Given the description of an element on the screen output the (x, y) to click on. 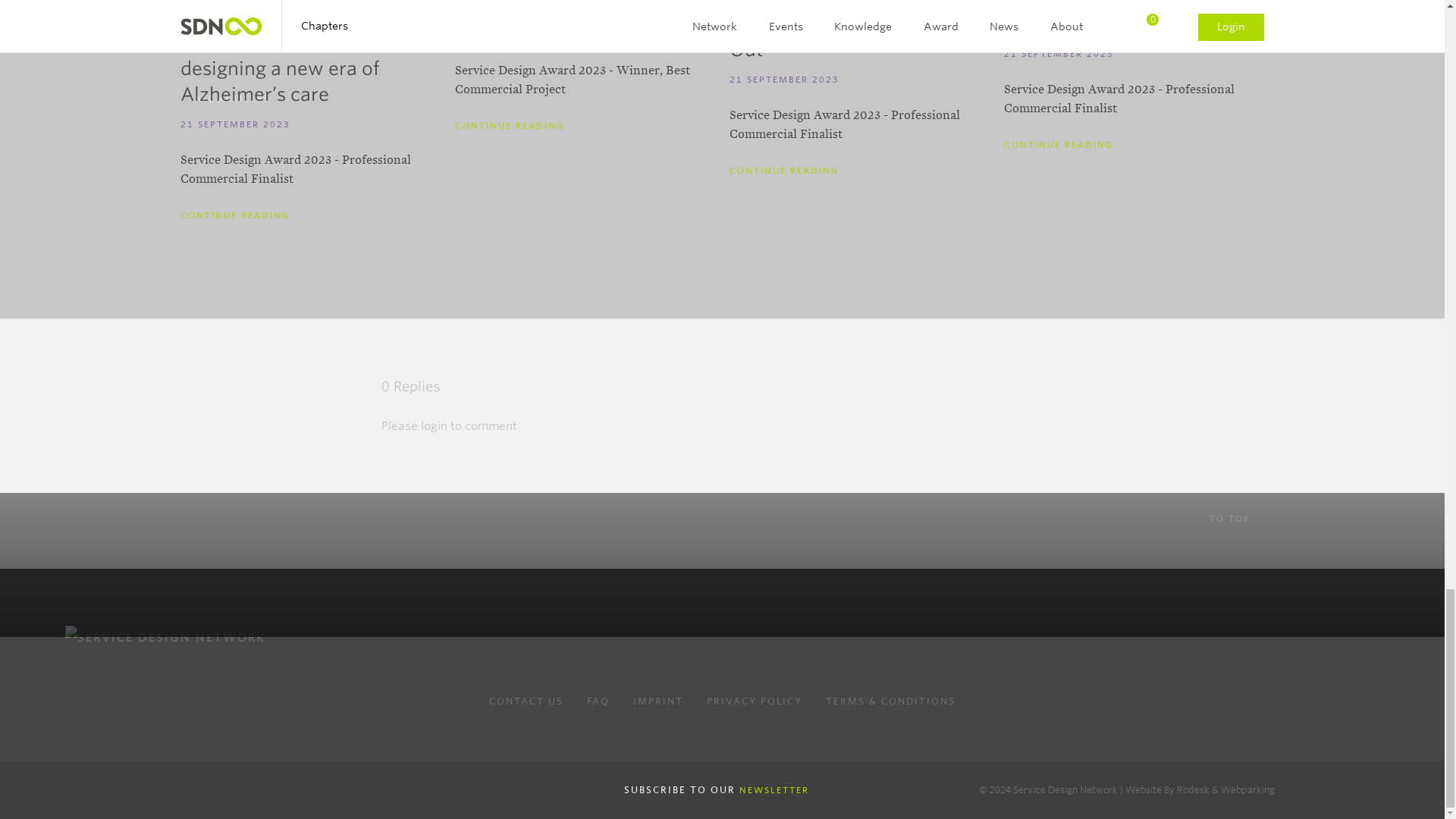
FAQ (598, 701)
Contact us (526, 701)
Imprint (657, 701)
Privacy Policy (754, 701)
